Given the description of an element on the screen output the (x, y) to click on. 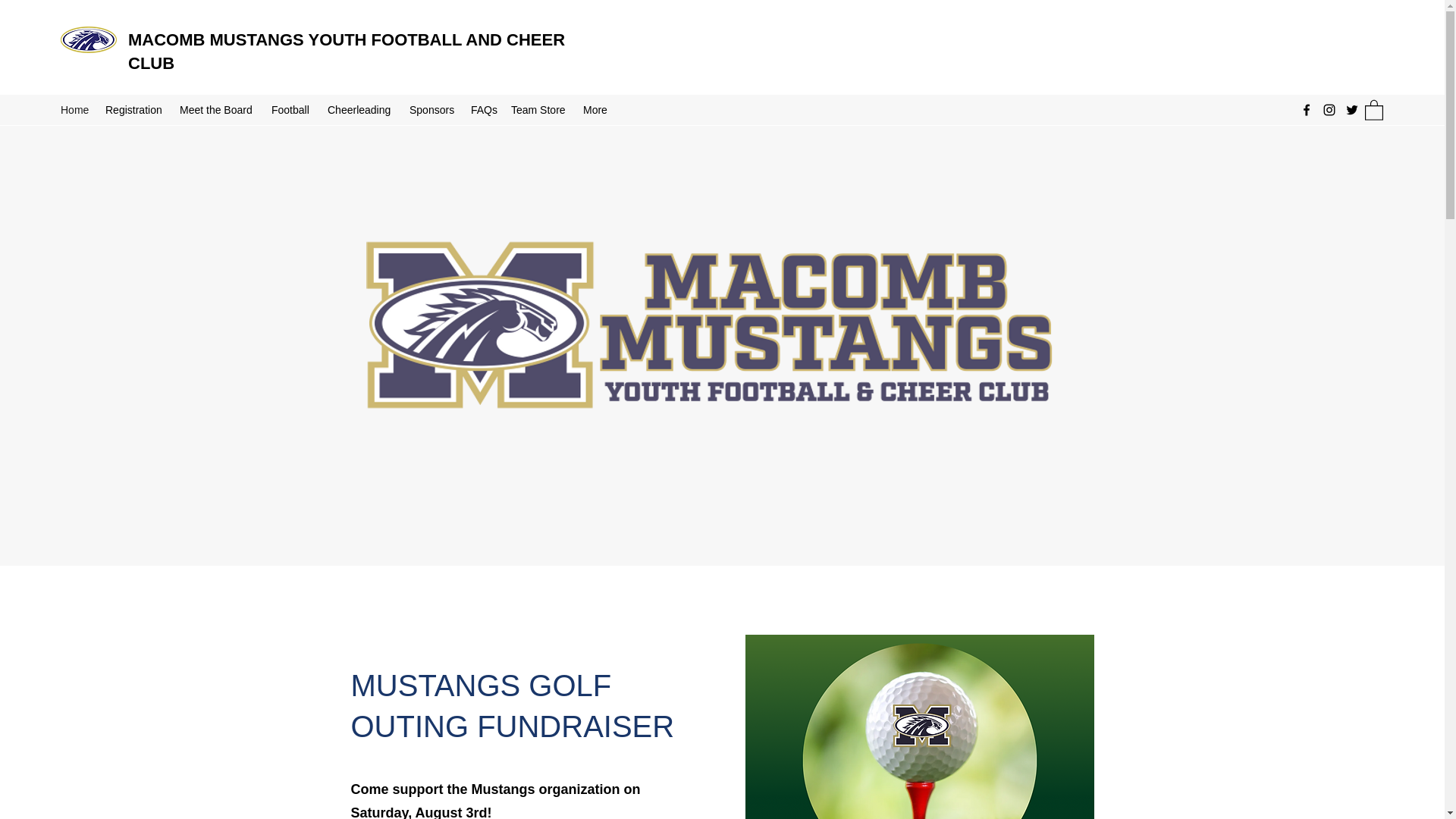
Meet the Board (217, 109)
Home (74, 109)
FAQs (483, 109)
Team Store (539, 109)
Registration (134, 109)
MACOMB MUSTANGS YOUTH FOOTBALL AND CHEER CLUB (346, 51)
Sponsors (432, 109)
Football (291, 109)
Cheerleading (360, 109)
